Given the description of an element on the screen output the (x, y) to click on. 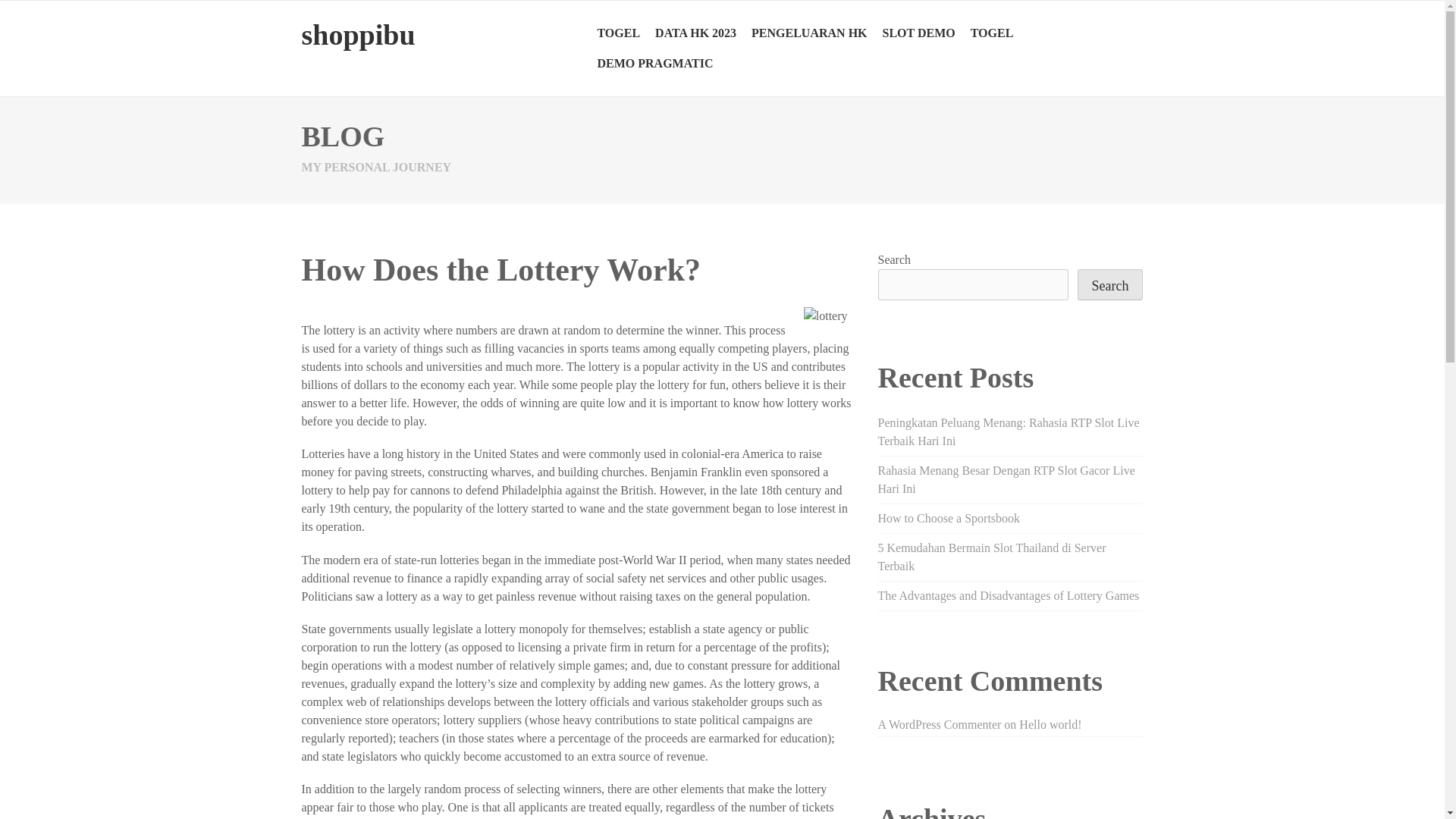
shoppibu (357, 34)
The Advantages and Disadvantages of Lottery Games (1008, 594)
Search (1109, 284)
TOGEL (618, 33)
TOGEL (992, 33)
DATA HK 2023 (695, 33)
Rahasia Menang Besar Dengan RTP Slot Gacor Live Hari Ini (1006, 479)
Hello world! (1050, 724)
PENGELUARAN HK (809, 33)
SLOT DEMO (918, 33)
A WordPress Commenter (939, 724)
How to Choose a Sportsbook (948, 517)
DEMO PRAGMATIC (654, 63)
